Given the description of an element on the screen output the (x, y) to click on. 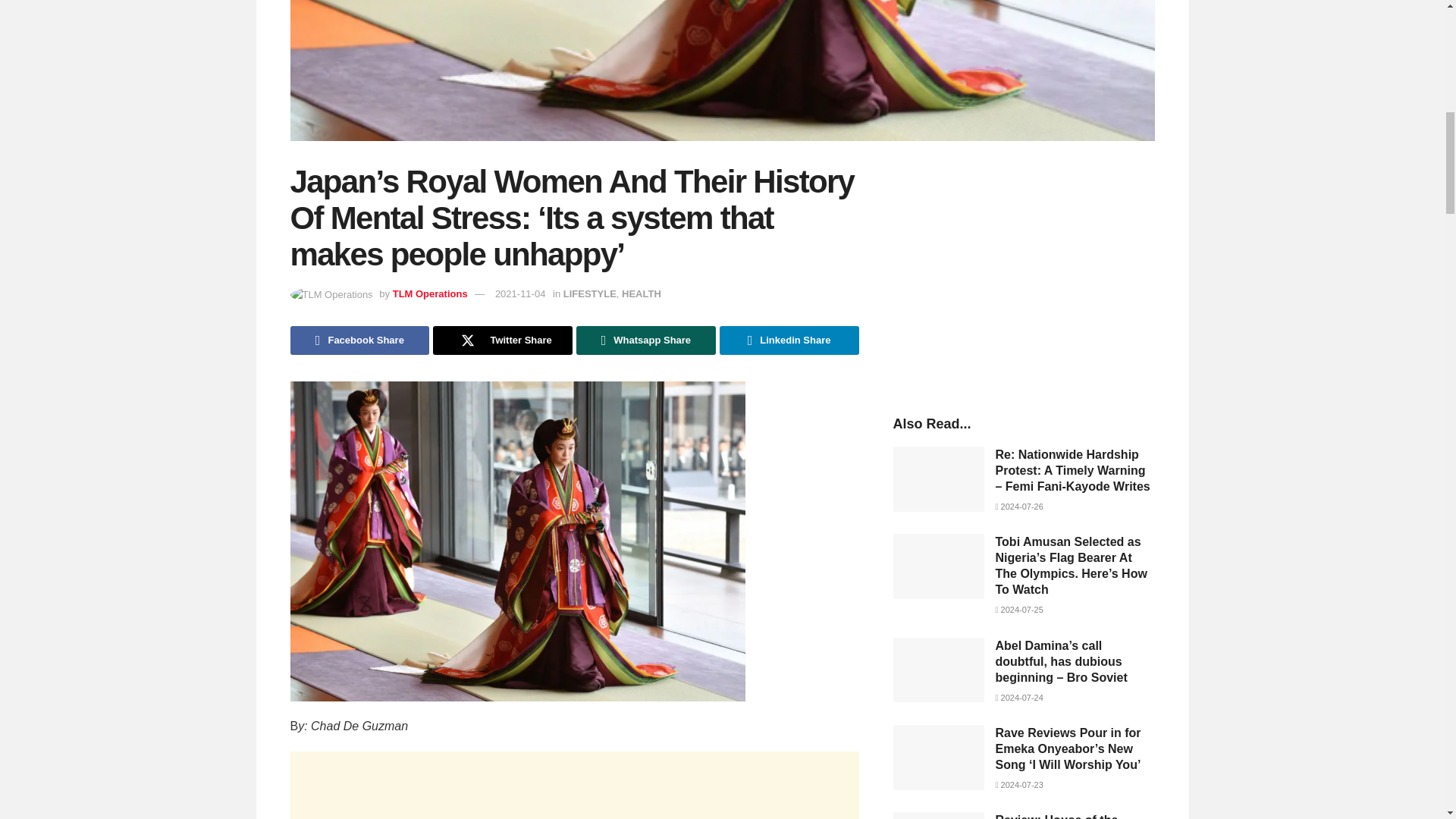
Advertisement (1023, 272)
Advertisement (574, 785)
Twitter Share (502, 339)
TLM Operations (430, 293)
2021-11-04 (520, 293)
Facebook Share (359, 339)
Linkedin Share (789, 339)
LIFESTYLE (589, 293)
HEALTH (641, 293)
Whatsapp Share (646, 339)
